Given the description of an element on the screen output the (x, y) to click on. 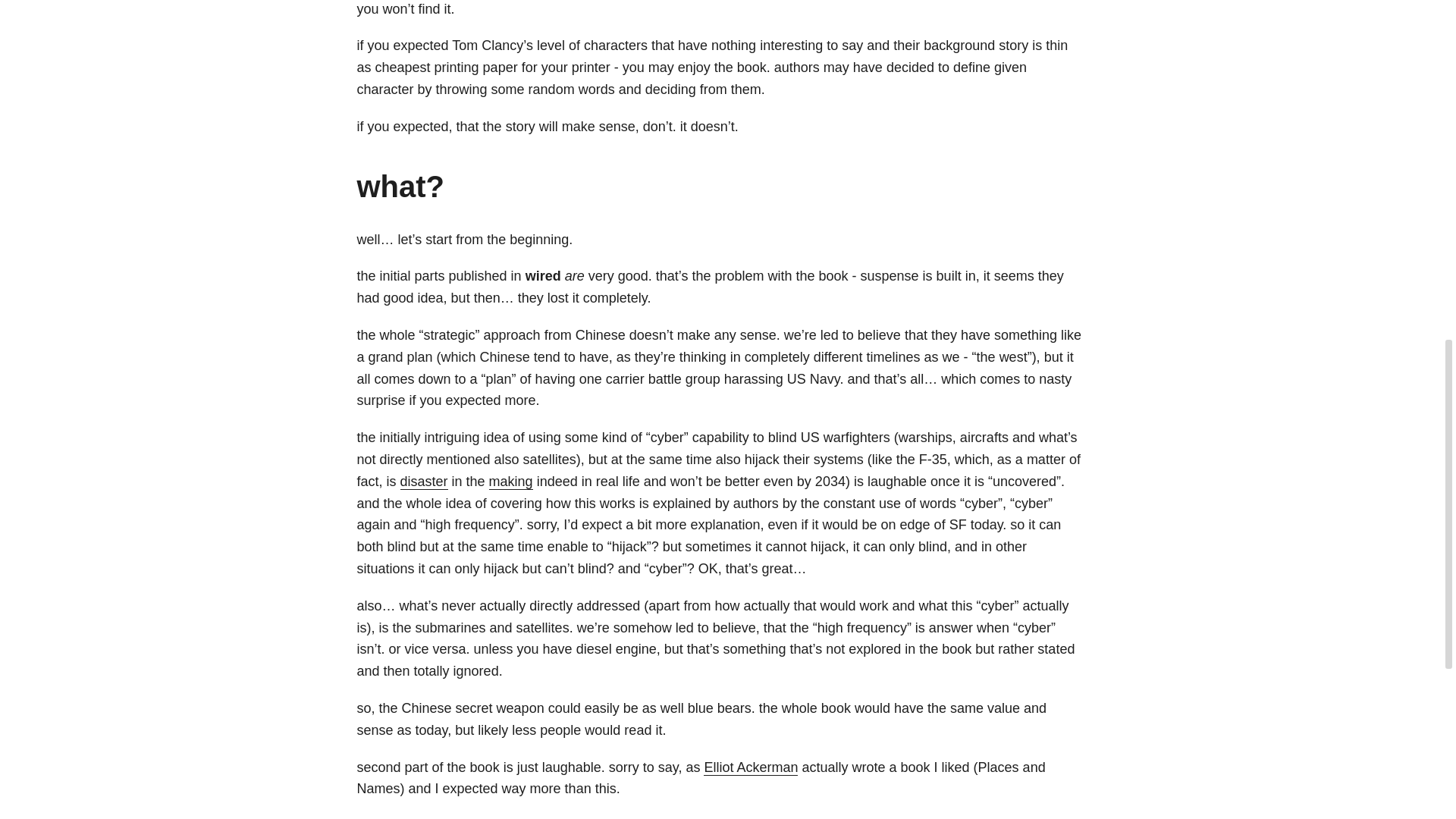
disaster (424, 481)
Elliot Ackerman (750, 767)
making (510, 481)
